Given the description of an element on the screen output the (x, y) to click on. 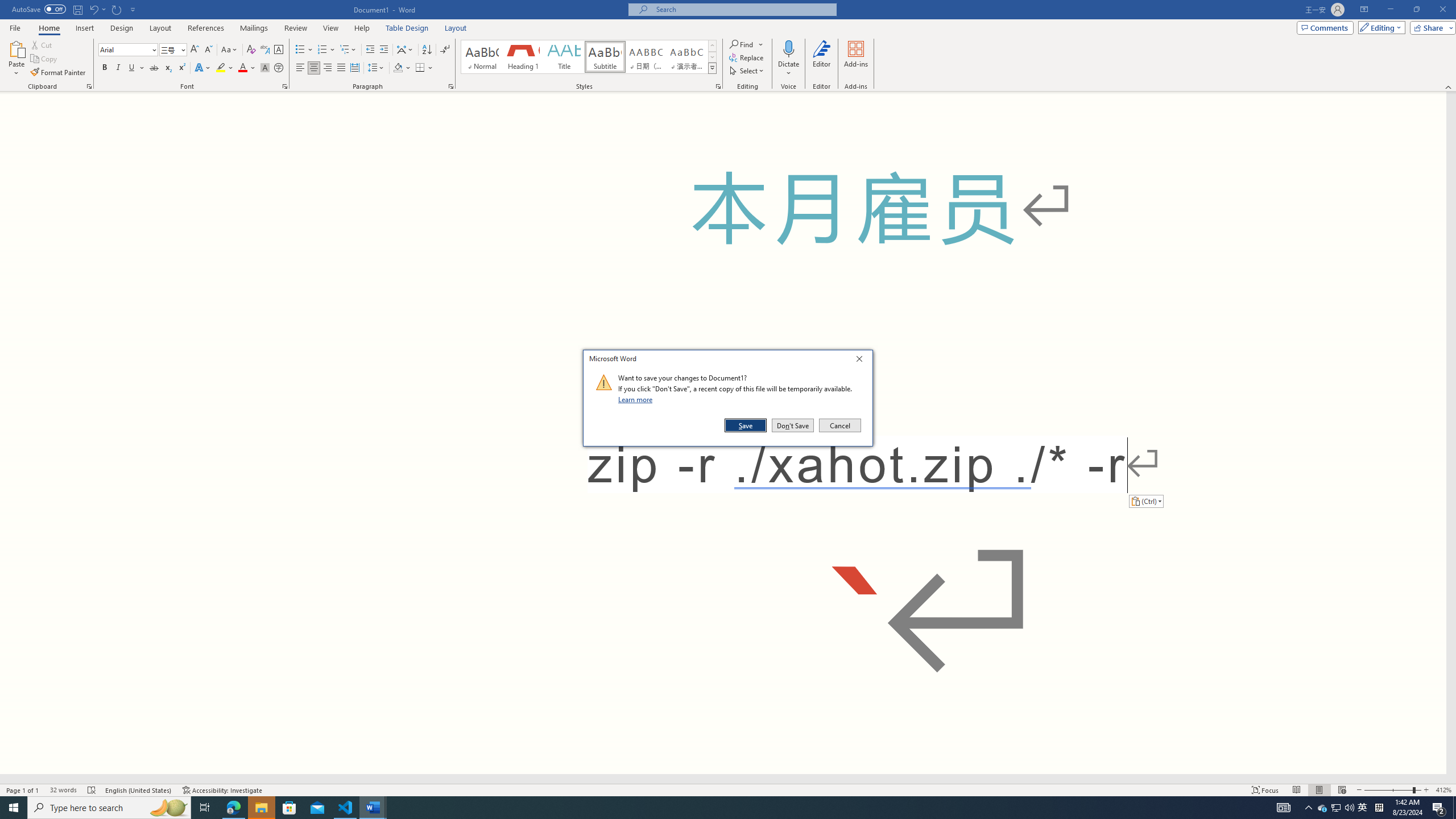
Accessibility Checker Accessibility: Investigate (222, 790)
Start (13, 807)
AutomationID: QuickStylesGallery (588, 56)
Word - 2 running windows (373, 807)
Text Effects and Typography (202, 67)
Zoom (1392, 790)
Undo Paste (92, 9)
Layout (455, 28)
Show desktop (1454, 807)
AutomationID: 4105 (1283, 807)
Distributed (354, 67)
